Given the description of an element on the screen output the (x, y) to click on. 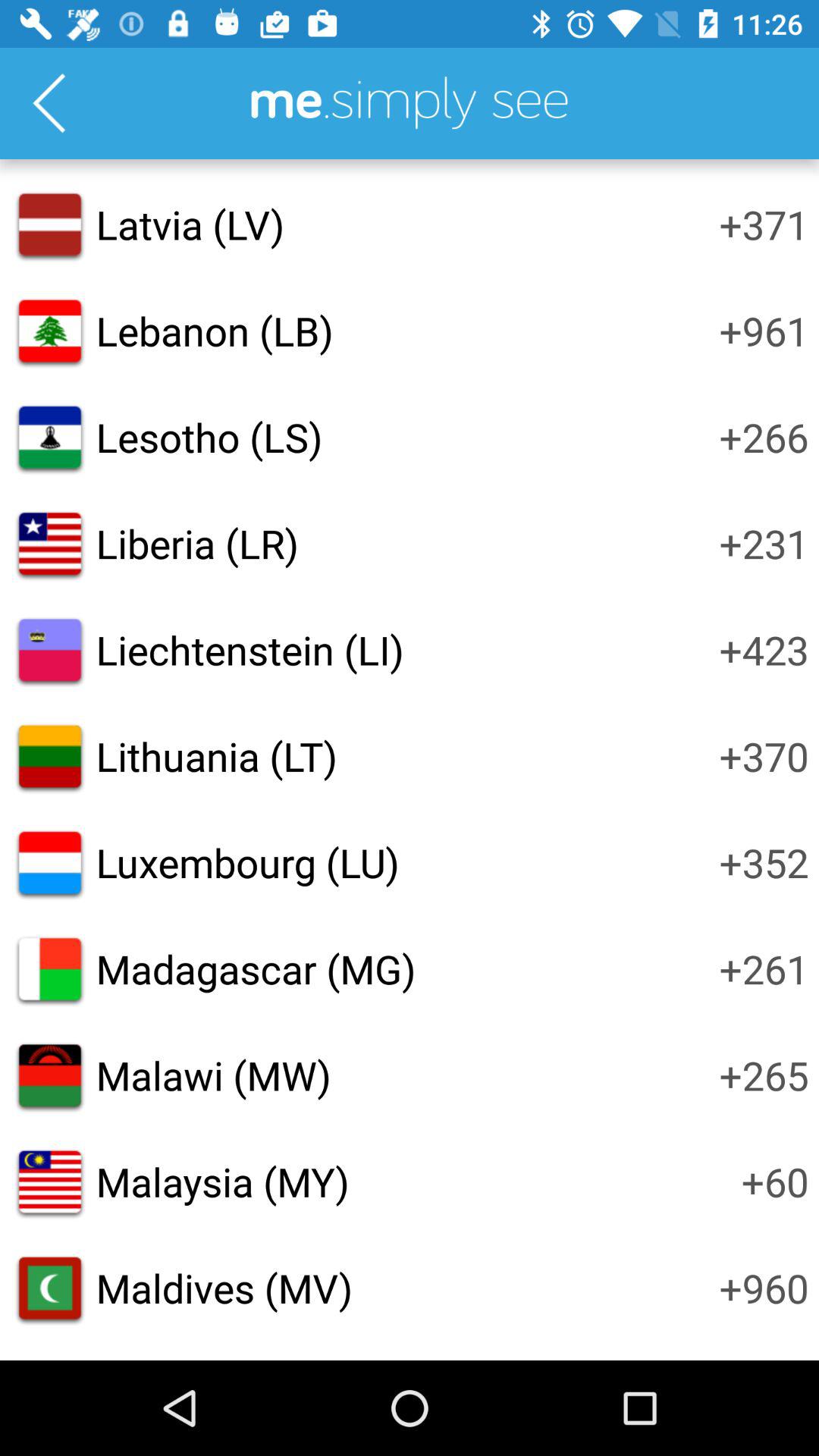
jump until luxembourg (lu) icon (247, 862)
